Given the description of an element on the screen output the (x, y) to click on. 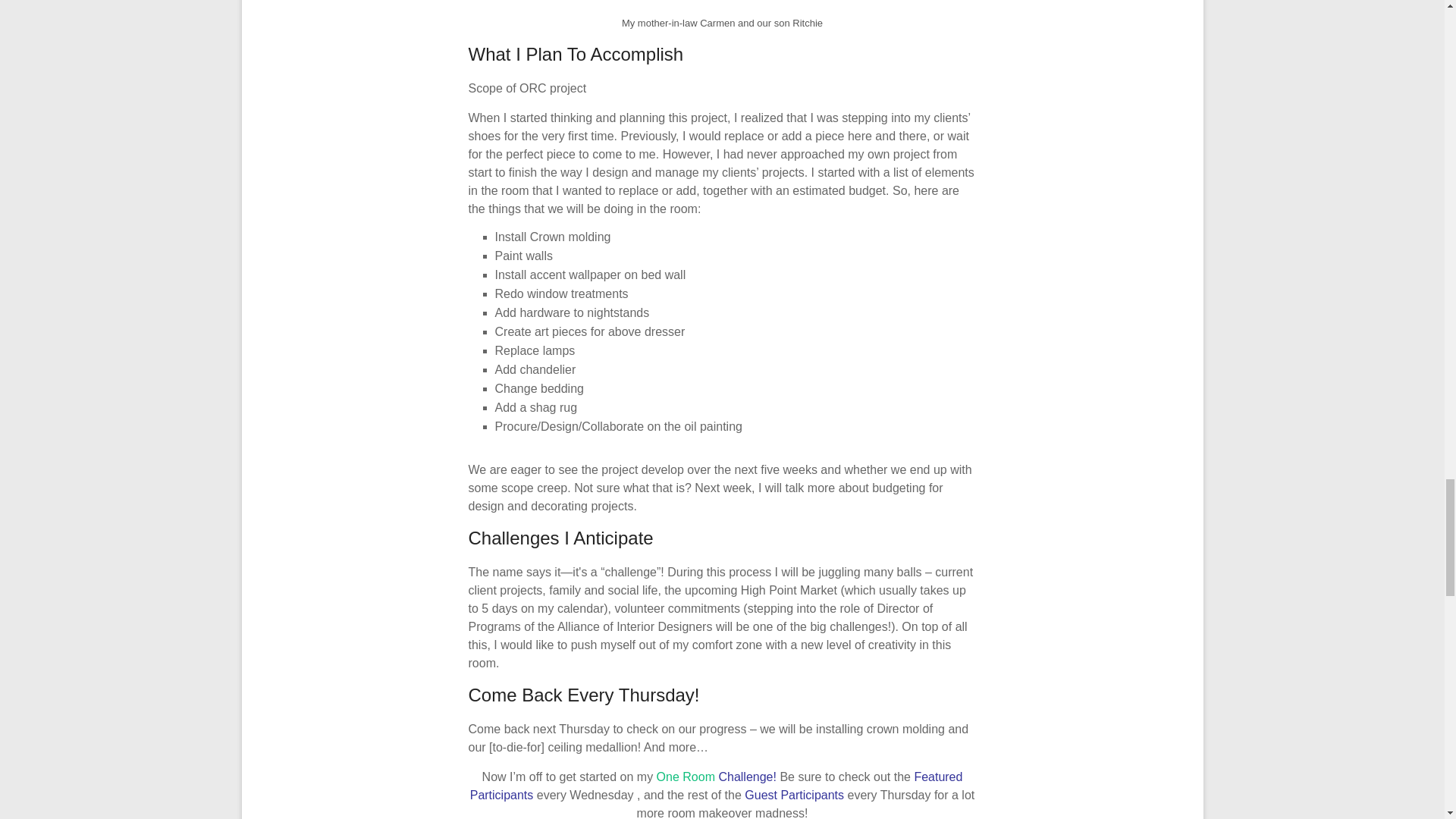
Guest Participants  (795, 794)
Featured Participants (716, 785)
One Room Challenge! (718, 776)
